Given the description of an element on the screen output the (x, y) to click on. 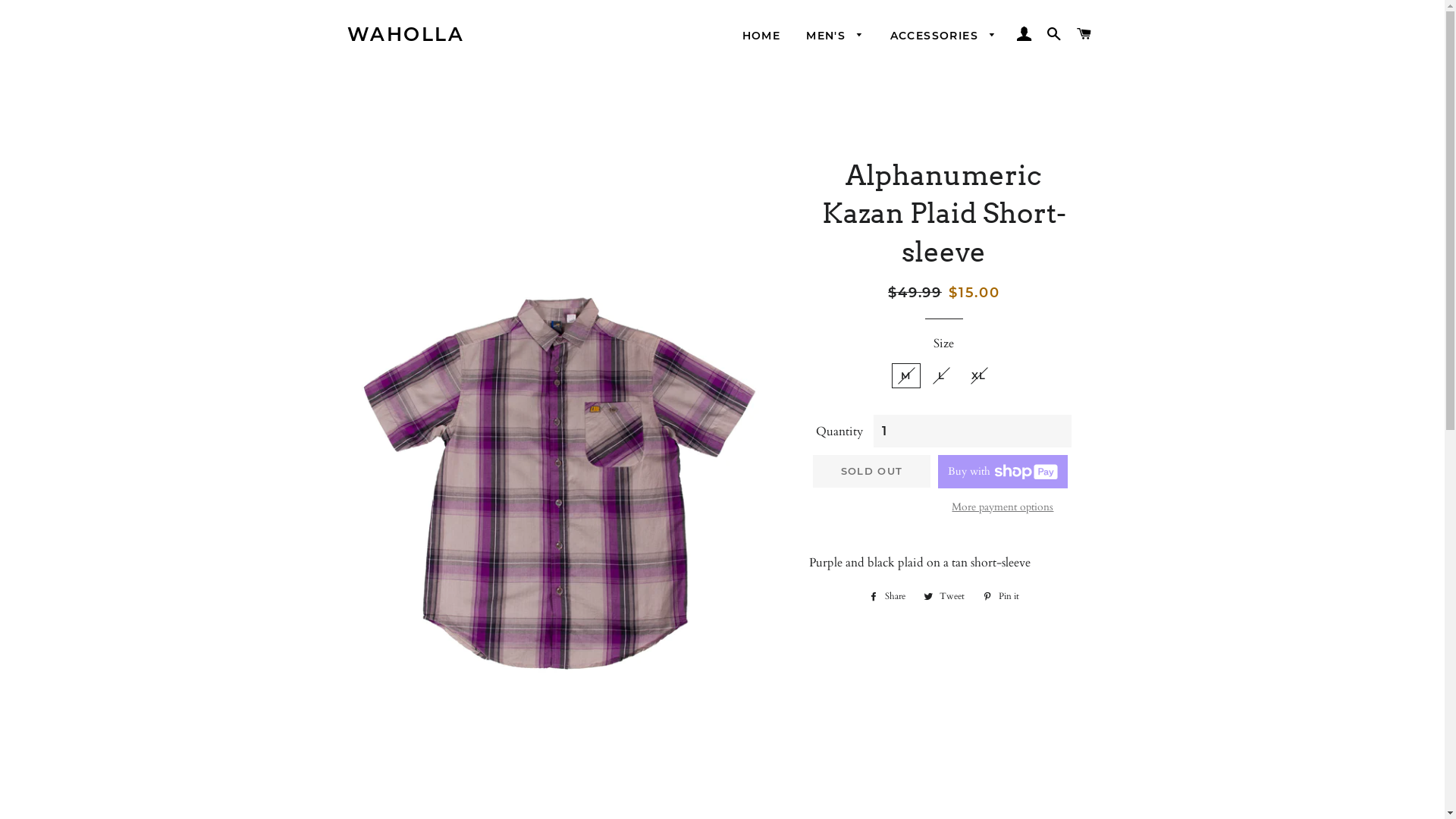
More payment options Element type: text (1002, 506)
WAHOLLA Element type: text (405, 34)
Share
Share on Facebook Element type: text (887, 595)
HOME Element type: text (761, 36)
Tweet
Tweet on Twitter Element type: text (944, 595)
SOLD OUT Element type: text (871, 470)
LOG IN Element type: text (1023, 33)
Pin it
Pin on Pinterest Element type: text (1000, 595)
SEARCH Element type: text (1054, 33)
CART Element type: text (1083, 33)
ACCESSORIES Element type: text (943, 36)
MEN'S Element type: text (834, 36)
